Given the description of an element on the screen output the (x, y) to click on. 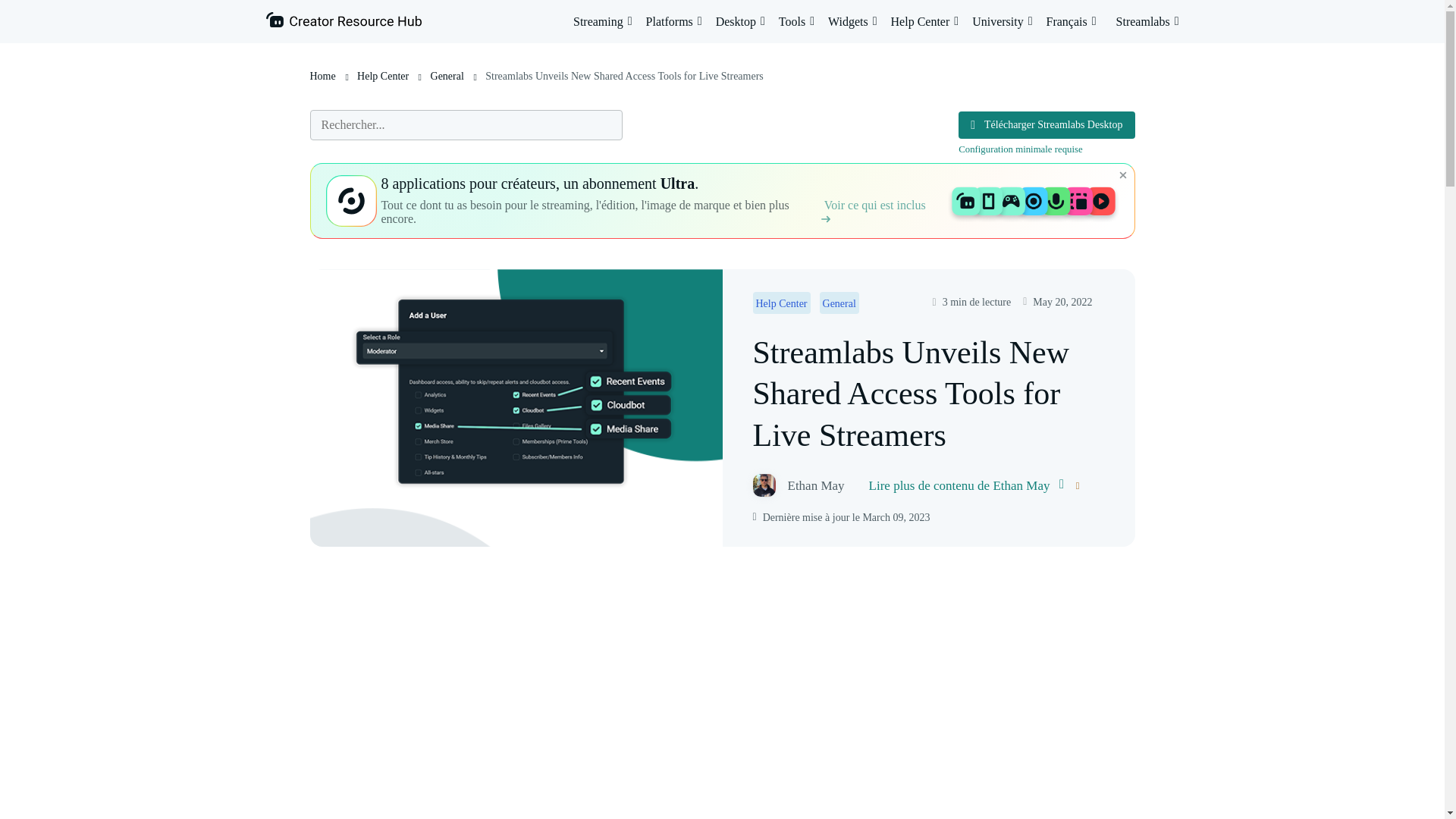
YouTube video player (721, 694)
Desktop (740, 21)
Streaming (602, 21)
Streamlabs Desktop System Requirements (1021, 149)
Platforms (673, 21)
Go to Streamlabs (1147, 21)
Tools (795, 21)
Lire plus de contenu de Ethan May (966, 485)
